Given the description of an element on the screen output the (x, y) to click on. 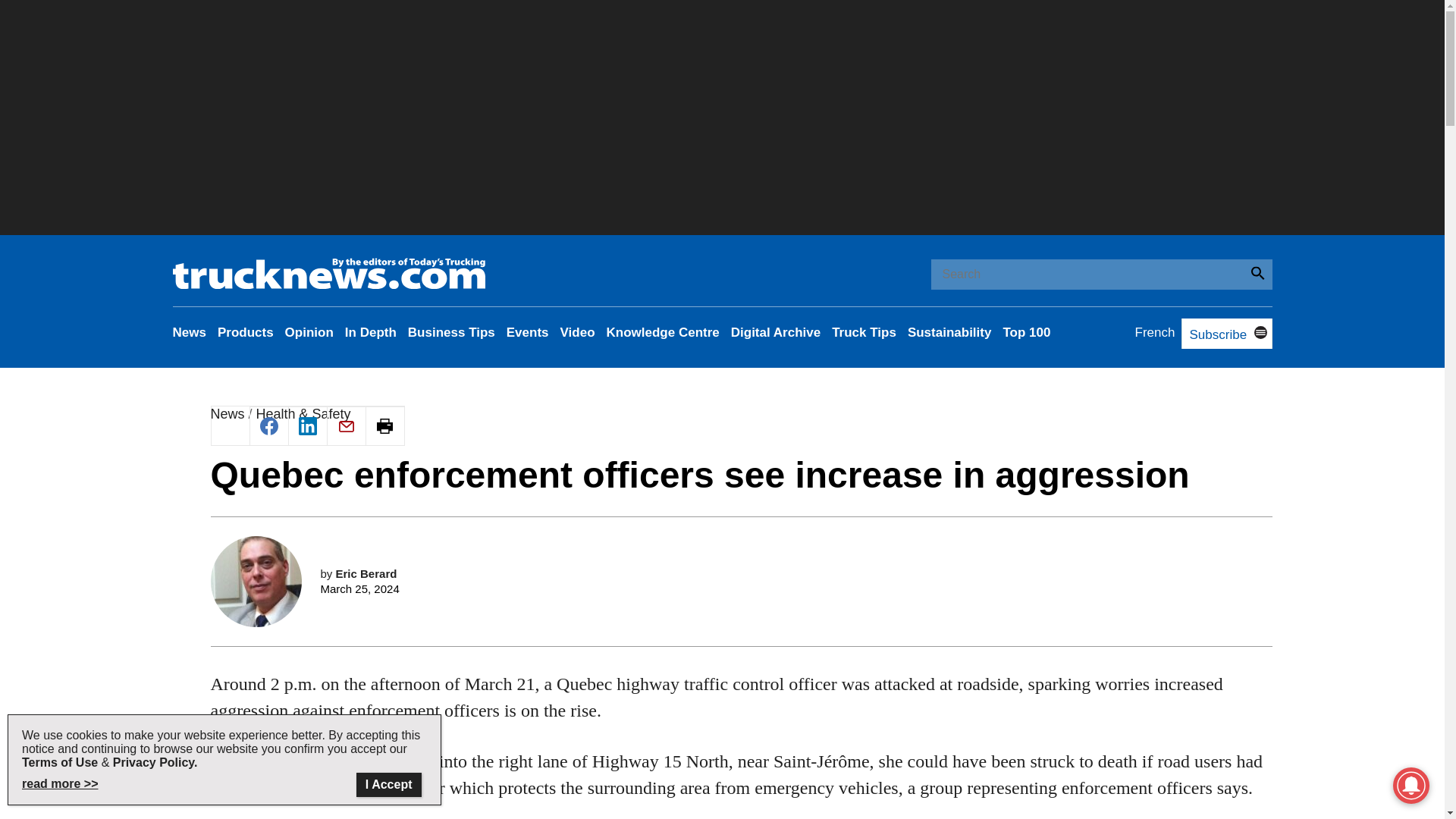
Subscribe (1213, 334)
Top 100 (1026, 332)
Video (577, 332)
Opinion (309, 332)
Events (527, 332)
French (1154, 332)
Knowledge Centre (663, 332)
In Depth (370, 332)
Business Tips (451, 332)
3rd party ad content (741, 738)
3rd party ad content (741, 530)
Sustainability (949, 332)
Digital Archive (775, 332)
Products (244, 332)
3rd party ad content (721, 117)
